Given the description of an element on the screen output the (x, y) to click on. 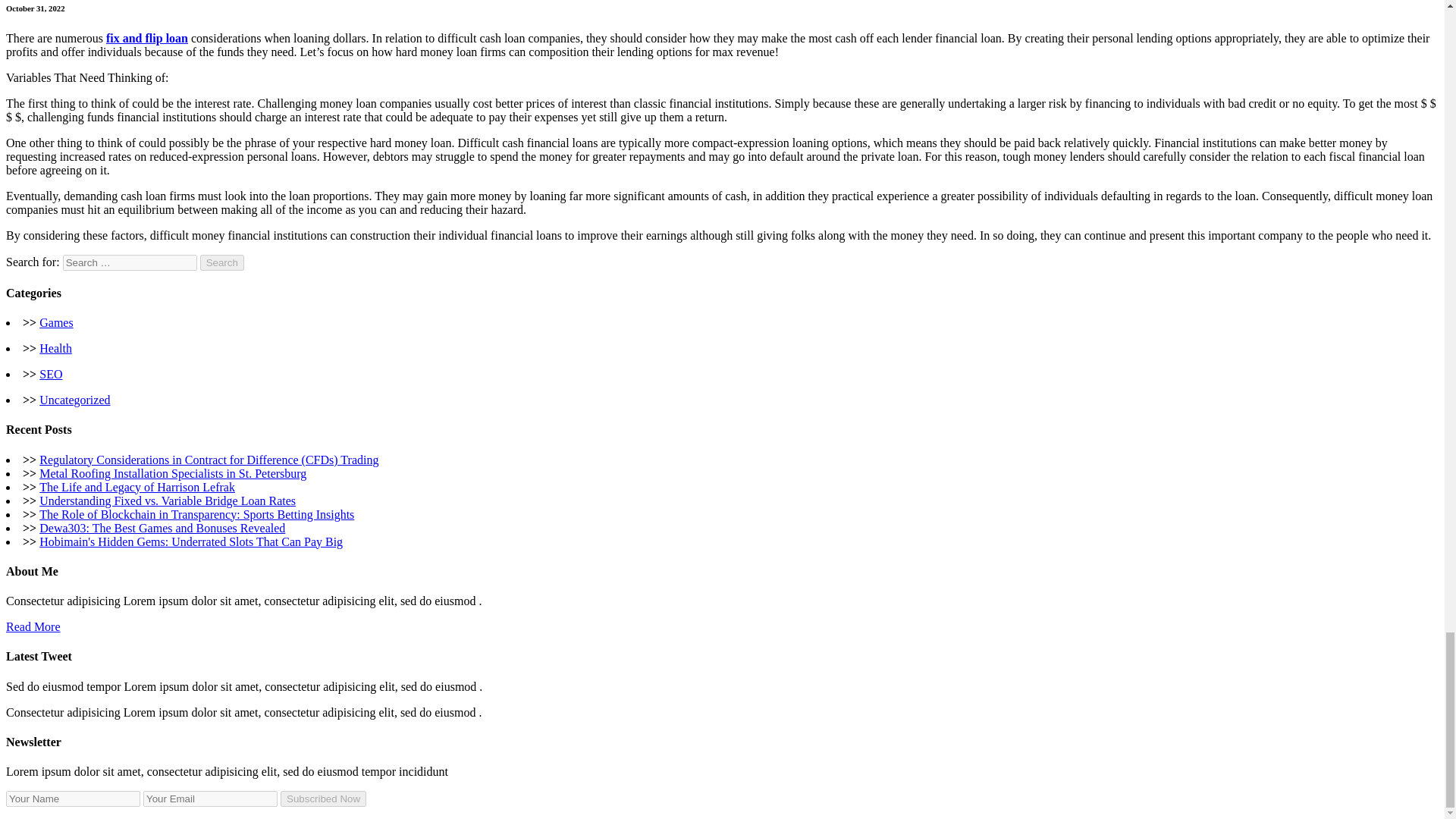
Search (222, 262)
Search (222, 262)
SEO (50, 373)
Search (222, 262)
Health (55, 348)
Subscribed Now (323, 798)
Hobimain's Hidden Gems: Underrated Slots That Can Pay Big (190, 541)
Read More (33, 626)
Uncategorized (74, 399)
The Life and Legacy of Harrison Lefrak (136, 486)
Understanding Fixed vs. Variable Bridge Loan Rates (167, 500)
fix and flip loan (146, 38)
Metal Roofing Installation Specialists in St. Petersburg (172, 472)
Dewa303: The Best Games and Bonuses Revealed (162, 527)
